Given the description of an element on the screen output the (x, y) to click on. 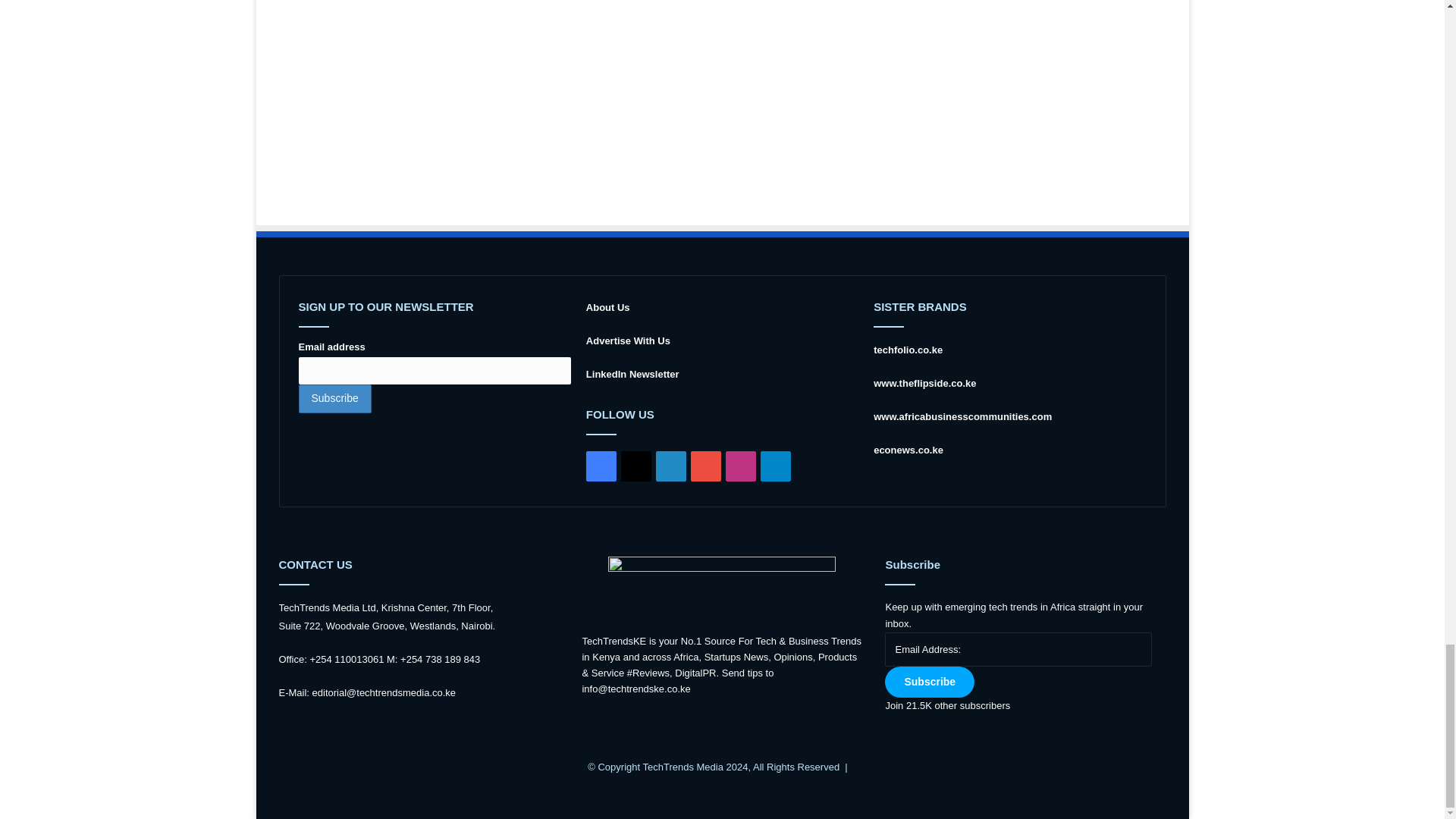
Subscribe (334, 398)
